Given the description of an element on the screen output the (x, y) to click on. 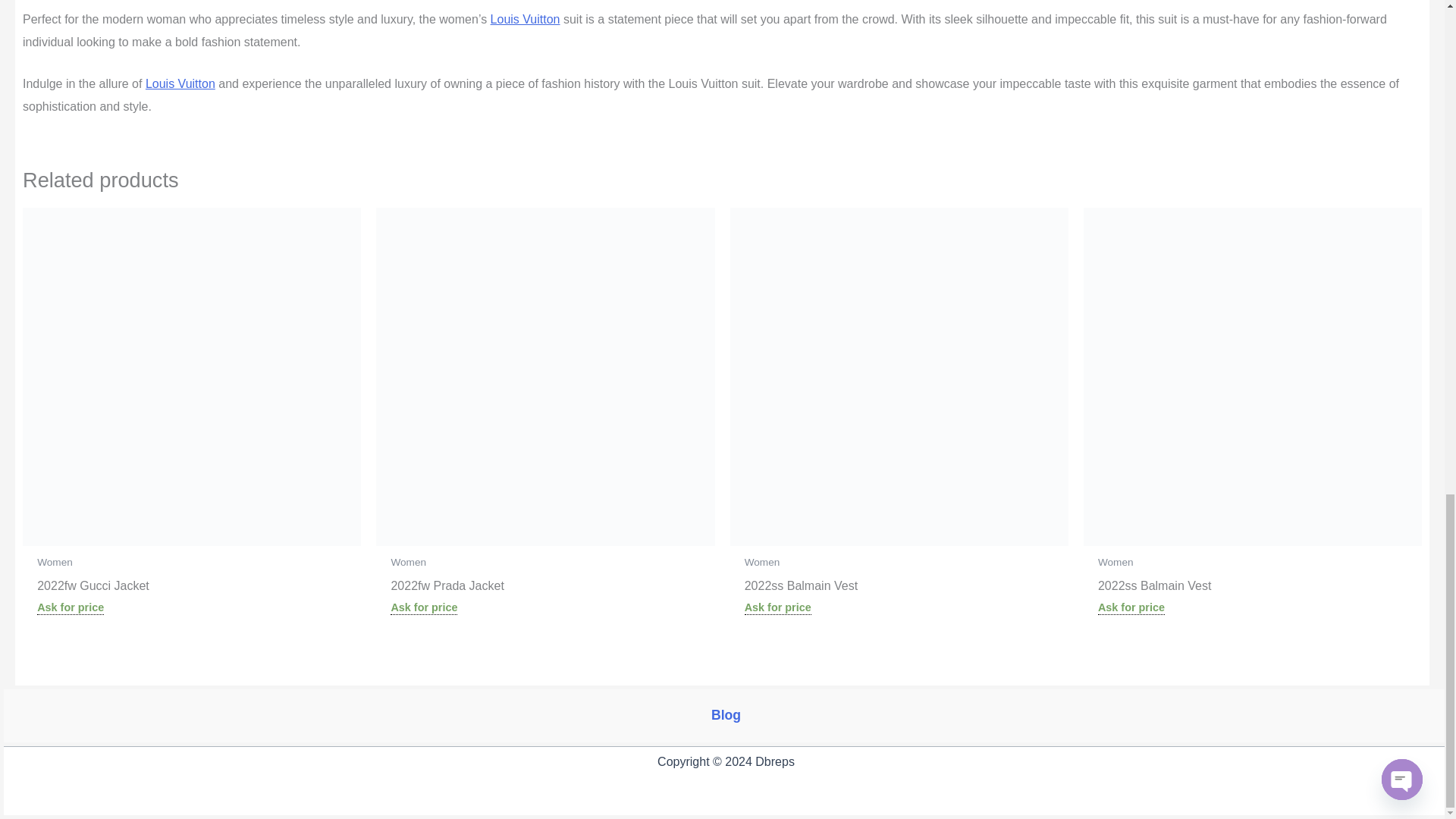
Louis Vuitton (525, 19)
2022fw Gucci Jacket (191, 589)
Louis Vuitton (525, 19)
Louis Vuitton (180, 83)
